Given the description of an element on the screen output the (x, y) to click on. 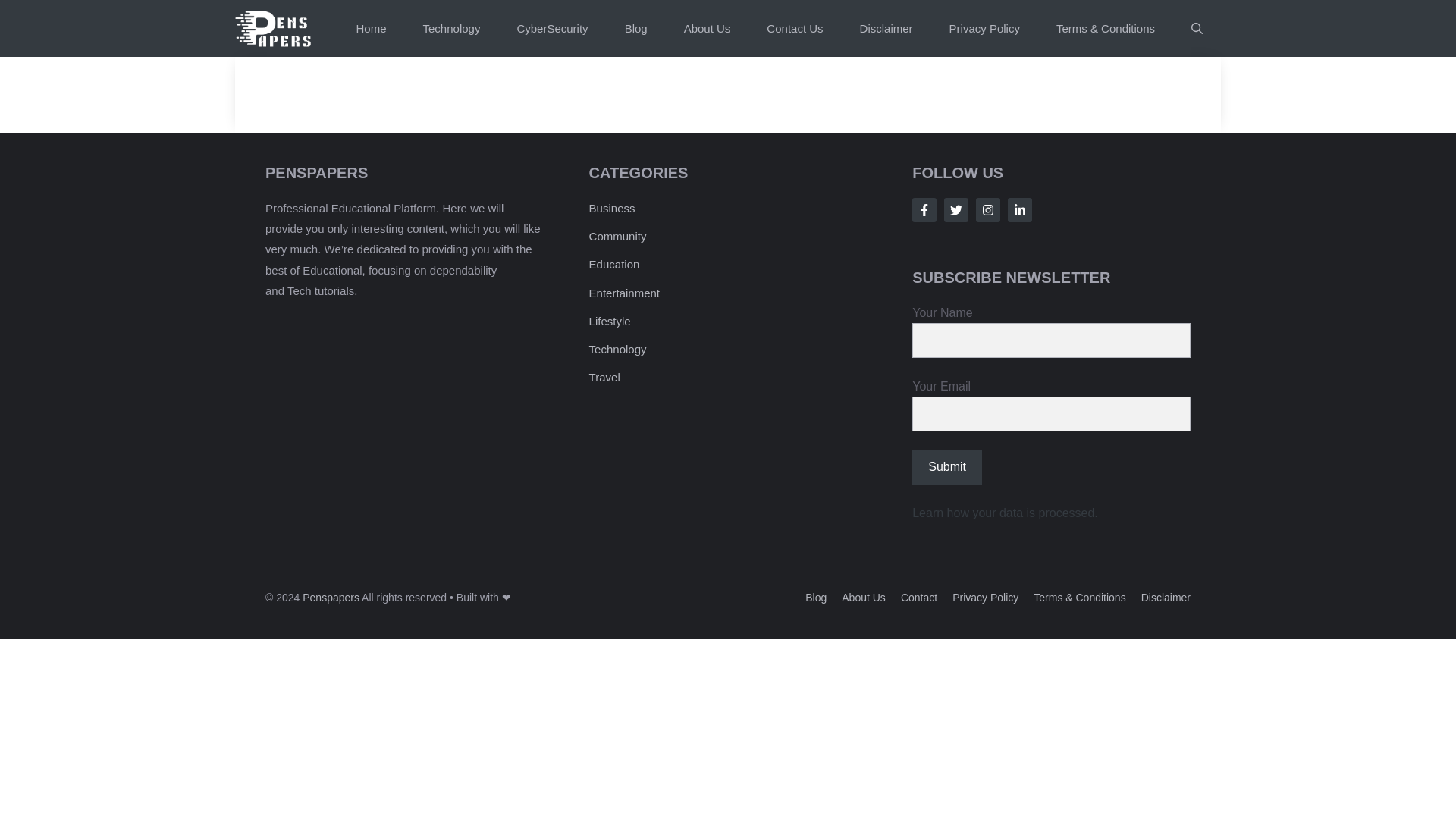
Contact Us (794, 28)
Blog (816, 597)
Tech Insights Unfolded (275, 28)
Lifestyle (609, 320)
Submit (946, 466)
Penspapers (330, 597)
Technology (617, 349)
Privacy Policy (984, 28)
Home (370, 28)
Blog (636, 28)
